Given the description of an element on the screen output the (x, y) to click on. 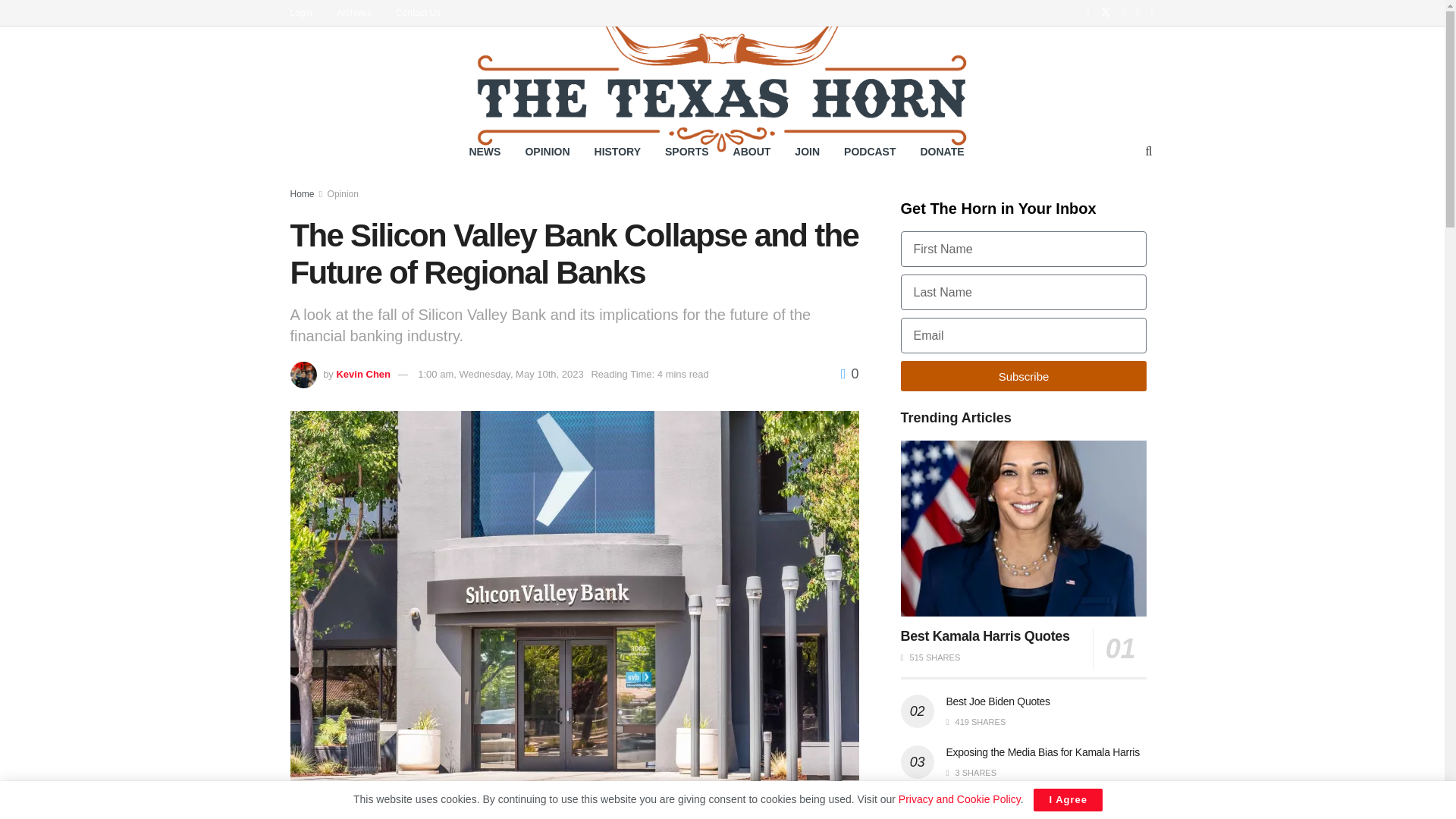
DONATE (942, 151)
Home (301, 194)
Contact Us (425, 12)
NEWS (484, 151)
Archives (361, 12)
JOIN (807, 151)
OPINION (546, 151)
Kevin Chen (363, 374)
SPORTS (686, 151)
